Given the description of an element on the screen output the (x, y) to click on. 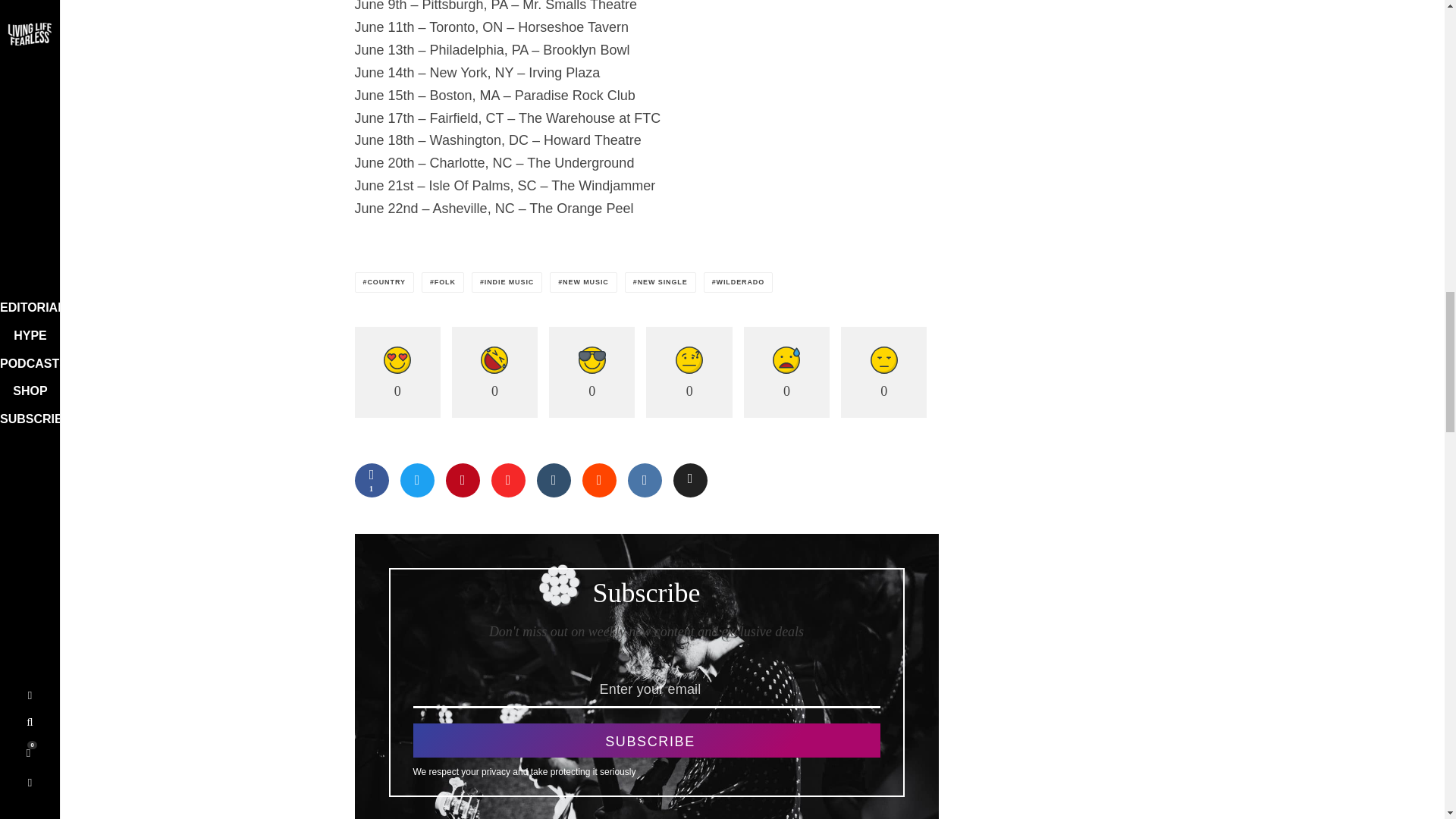
COUNTRY (384, 281)
FOLK (443, 281)
NEW MUSIC (583, 281)
Subscribe (645, 740)
INDIE MUSIC (506, 281)
